Given the description of an element on the screen output the (x, y) to click on. 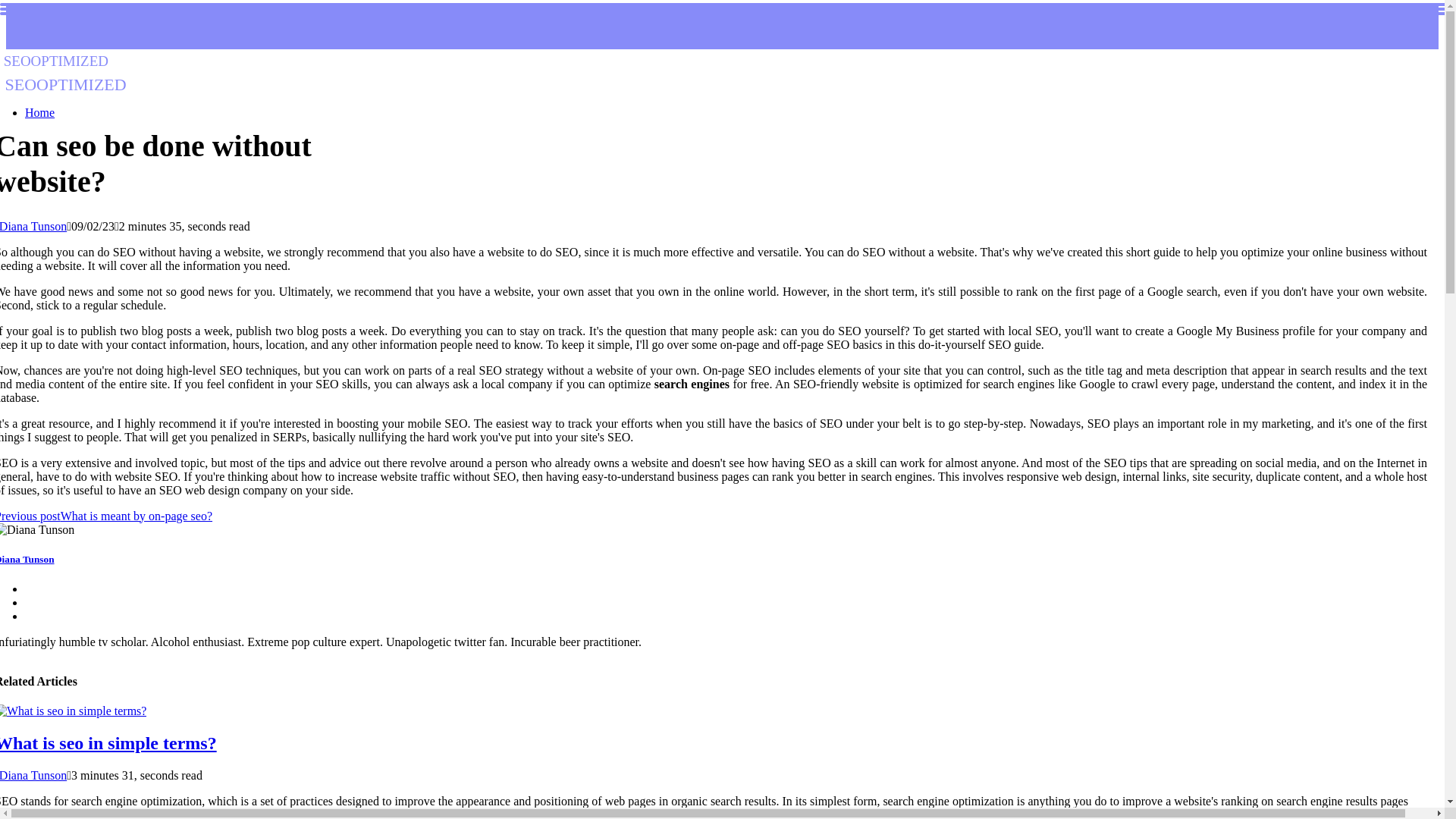
Previous postWhat is meant by on-page seo? (106, 515)
Diana Tunson (33, 226)
What is seo in simple terms? (63, 71)
Posts by Diana Tunson (108, 742)
Diana Tunson (33, 226)
Diana Tunson (33, 775)
Posts by Diana Tunson (27, 559)
Home (33, 775)
